Given the description of an element on the screen output the (x, y) to click on. 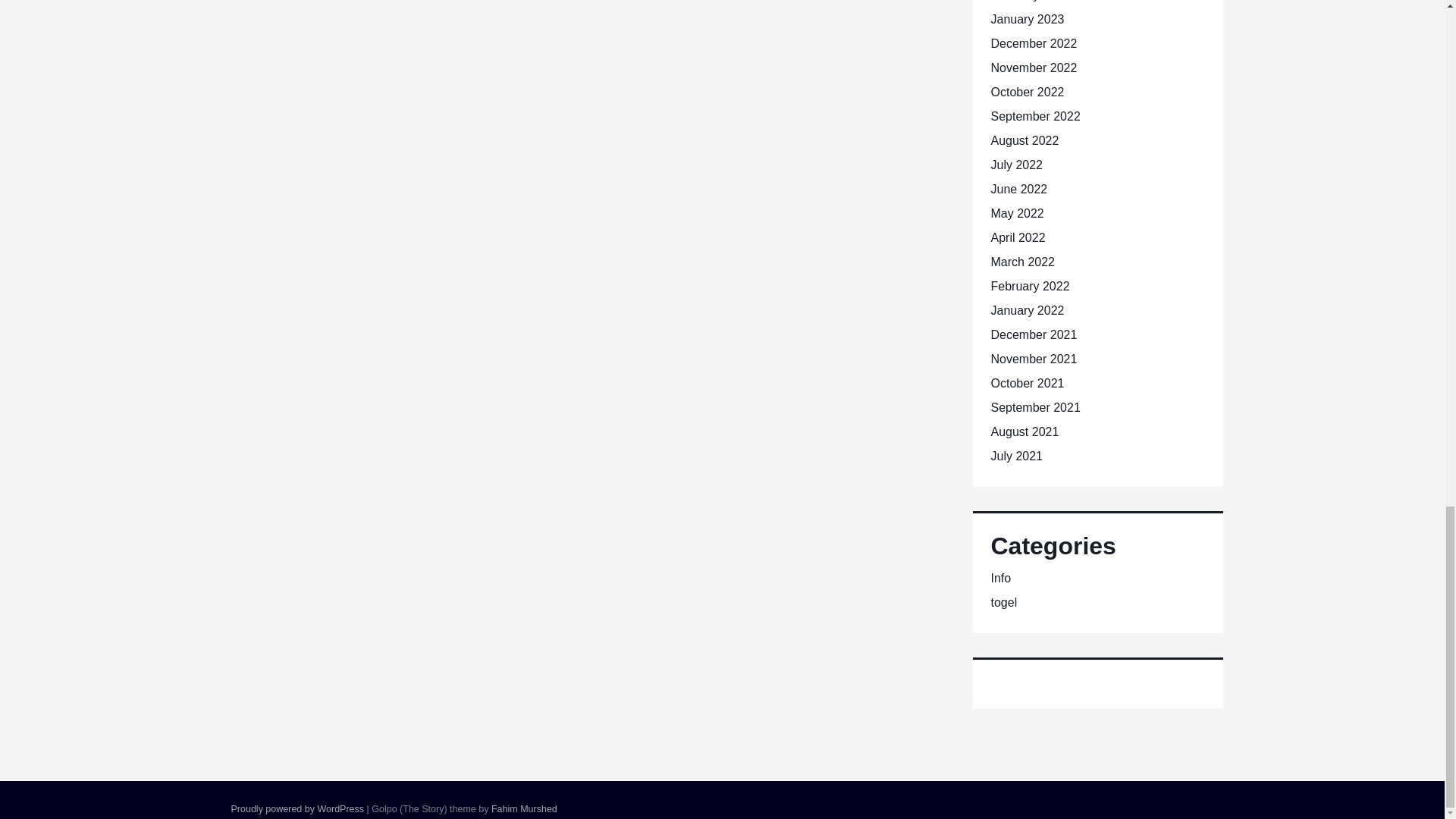
July 2022 (1016, 164)
November 2022 (1033, 67)
September 2022 (1035, 115)
October 2022 (1027, 91)
February 2023 (1029, 0)
January 2023 (1027, 19)
December 2022 (1033, 42)
August 2022 (1024, 140)
